Given the description of an element on the screen output the (x, y) to click on. 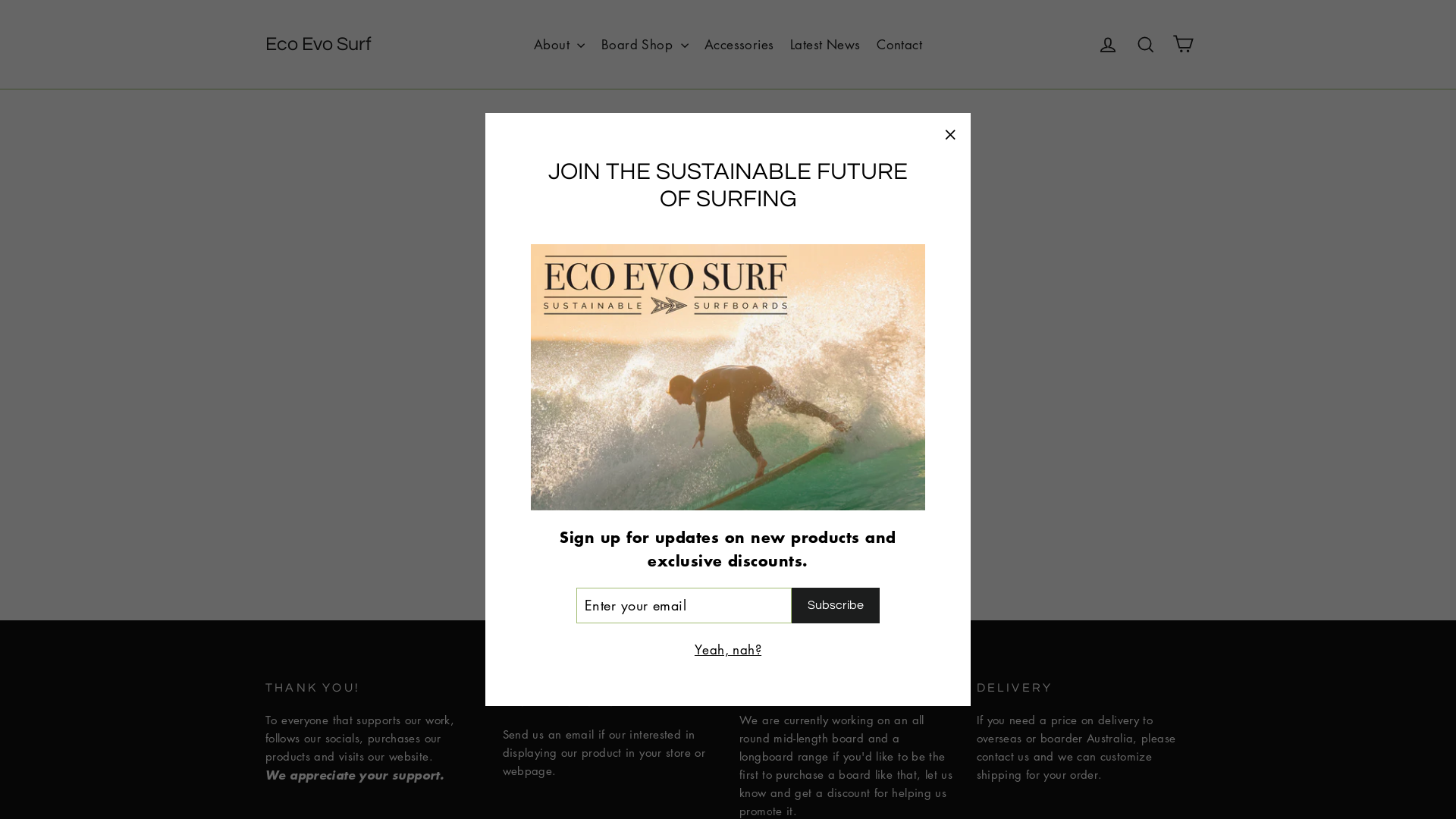
Cart Element type: text (1182, 44)
Board Shop Element type: text (644, 43)
About Element type: text (559, 43)
Skip to content Element type: text (0, 0)
Log in Element type: text (1107, 44)
Accessories Element type: text (739, 43)
Latest News Element type: text (825, 43)
Continue shopping Element type: text (727, 277)
Yeah, nah? Element type: text (727, 649)
"Close (esc)" Element type: text (949, 133)
Eco Evo Surf Element type: text (318, 43)
Subscribe Element type: text (835, 605)
Search Element type: text (1145, 44)
Contact Element type: text (899, 43)
